Given the description of an element on the screen output the (x, y) to click on. 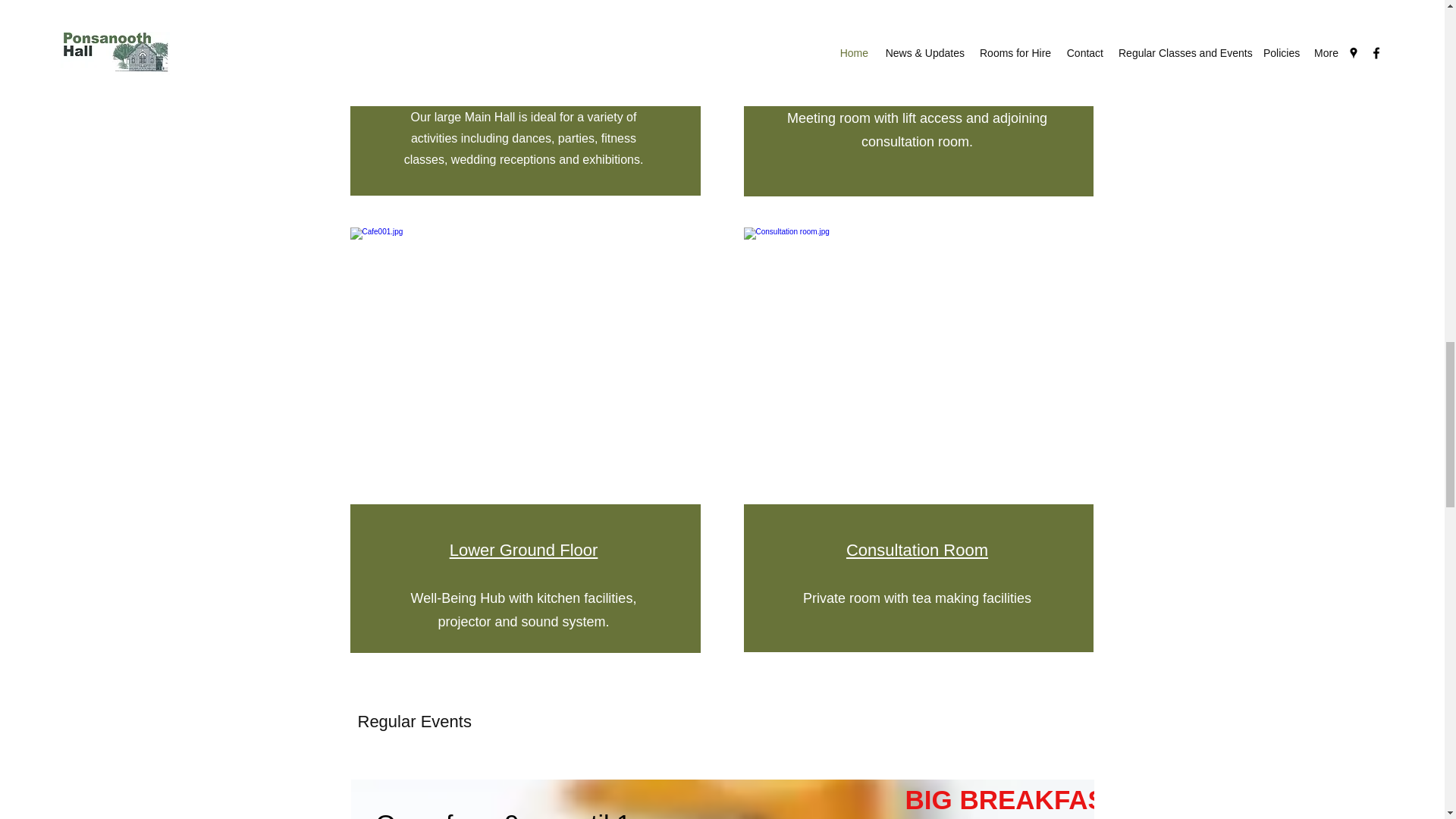
Main Hall (524, 69)
First Floor (917, 69)
Lower Ground Floor (523, 548)
Consultation Room (916, 548)
